Given the description of an element on the screen output the (x, y) to click on. 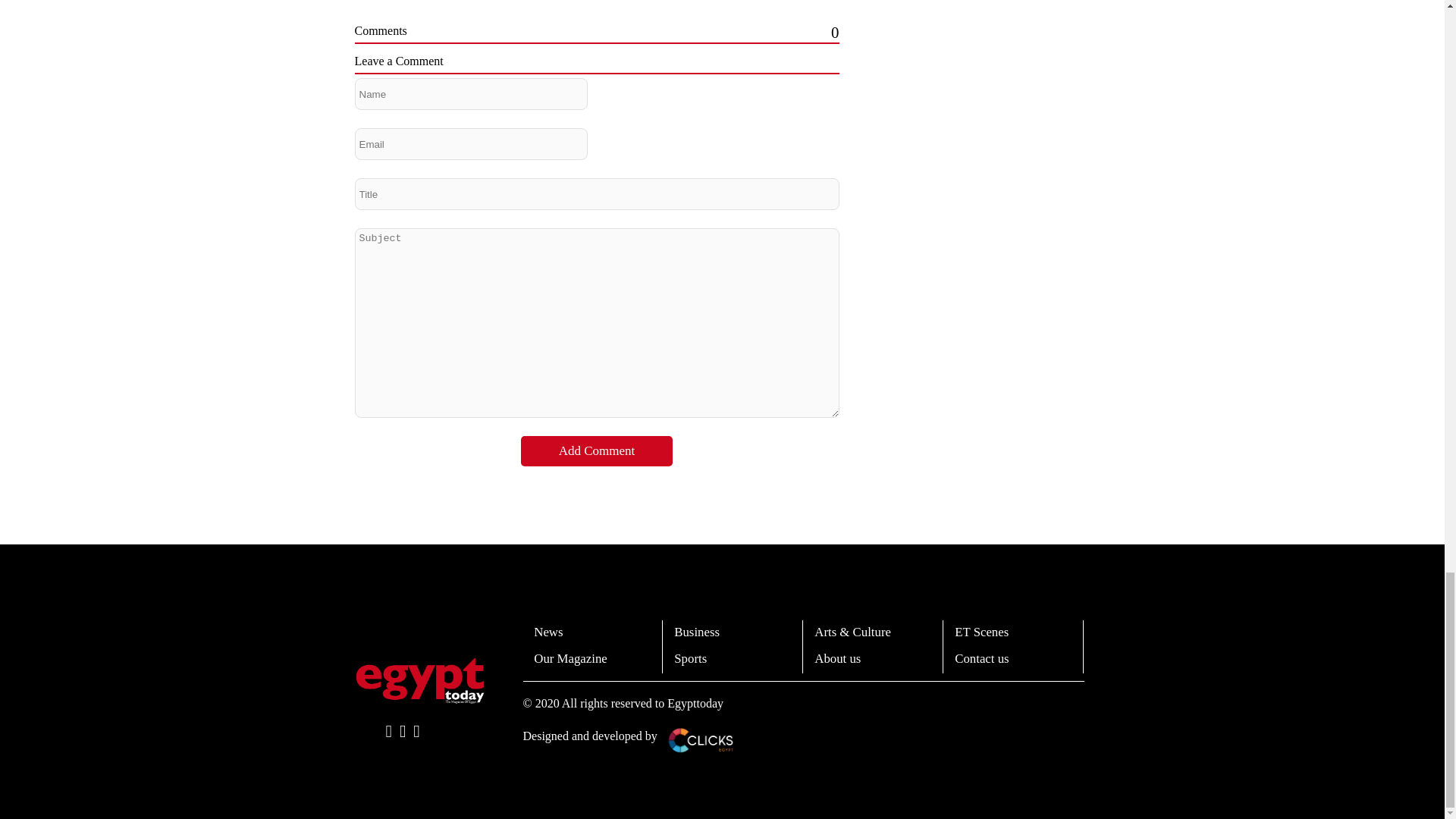
Add Comment (596, 450)
